Given the description of an element on the screen output the (x, y) to click on. 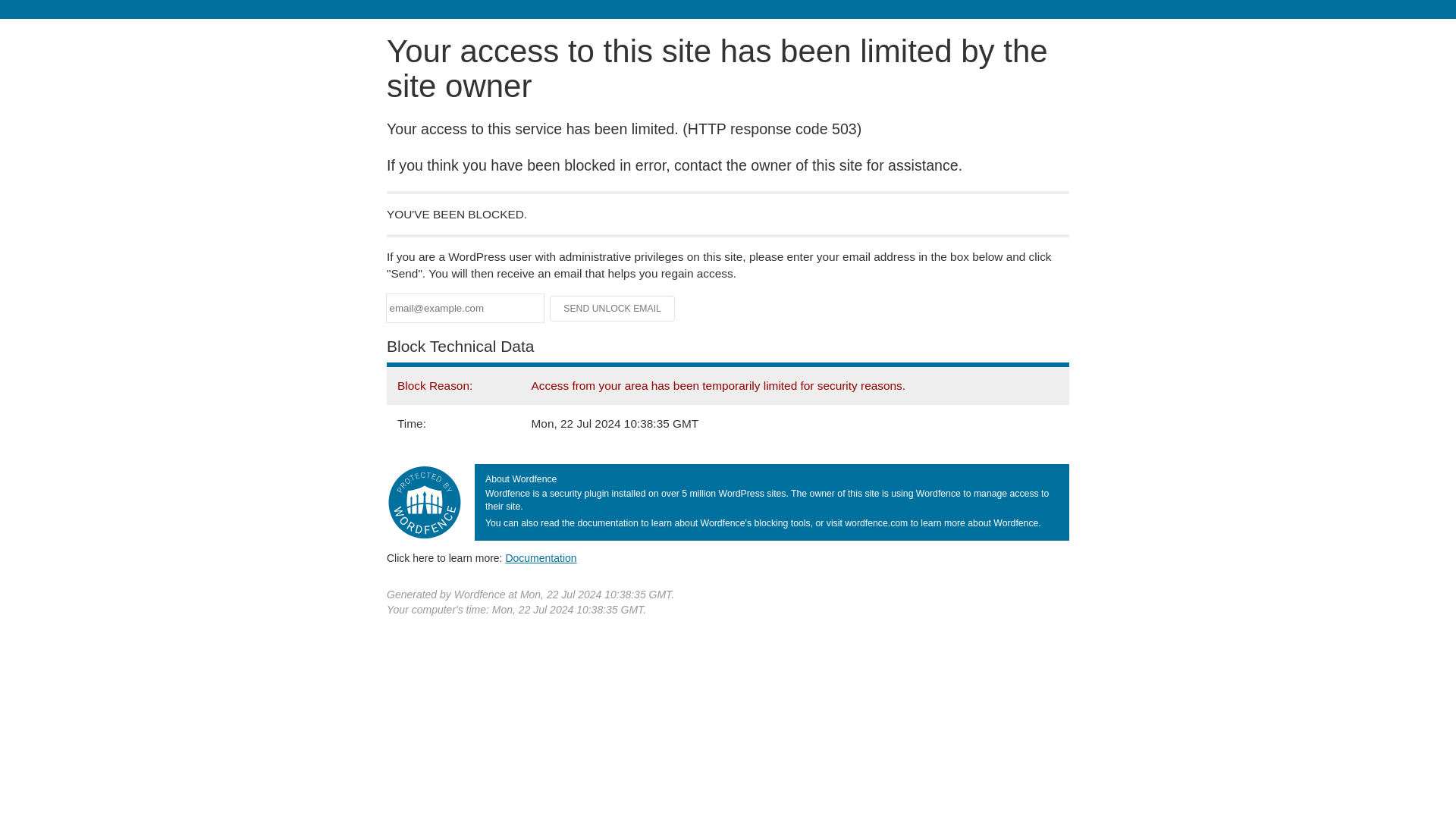
Documentation (540, 558)
Send Unlock Email (612, 308)
Send Unlock Email (612, 308)
